Given the description of an element on the screen output the (x, y) to click on. 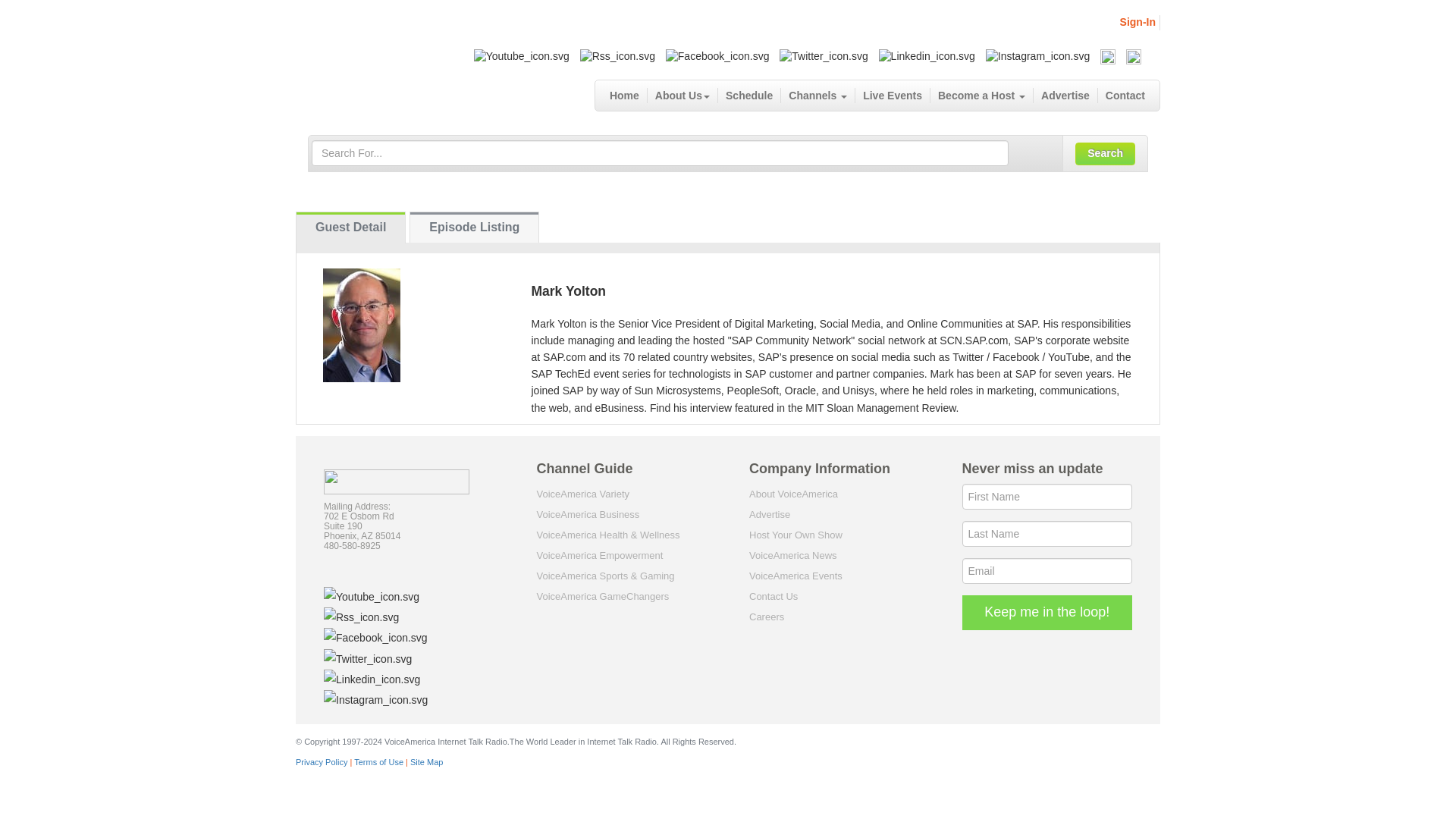
VoiceAmerica Business (588, 514)
Become a Host (981, 95)
Search (1105, 153)
Channels (818, 95)
Host Your Own Show (796, 534)
Home (624, 95)
Contact Us (773, 595)
VoiceAmerica Events (796, 575)
